Given the description of an element on the screen output the (x, y) to click on. 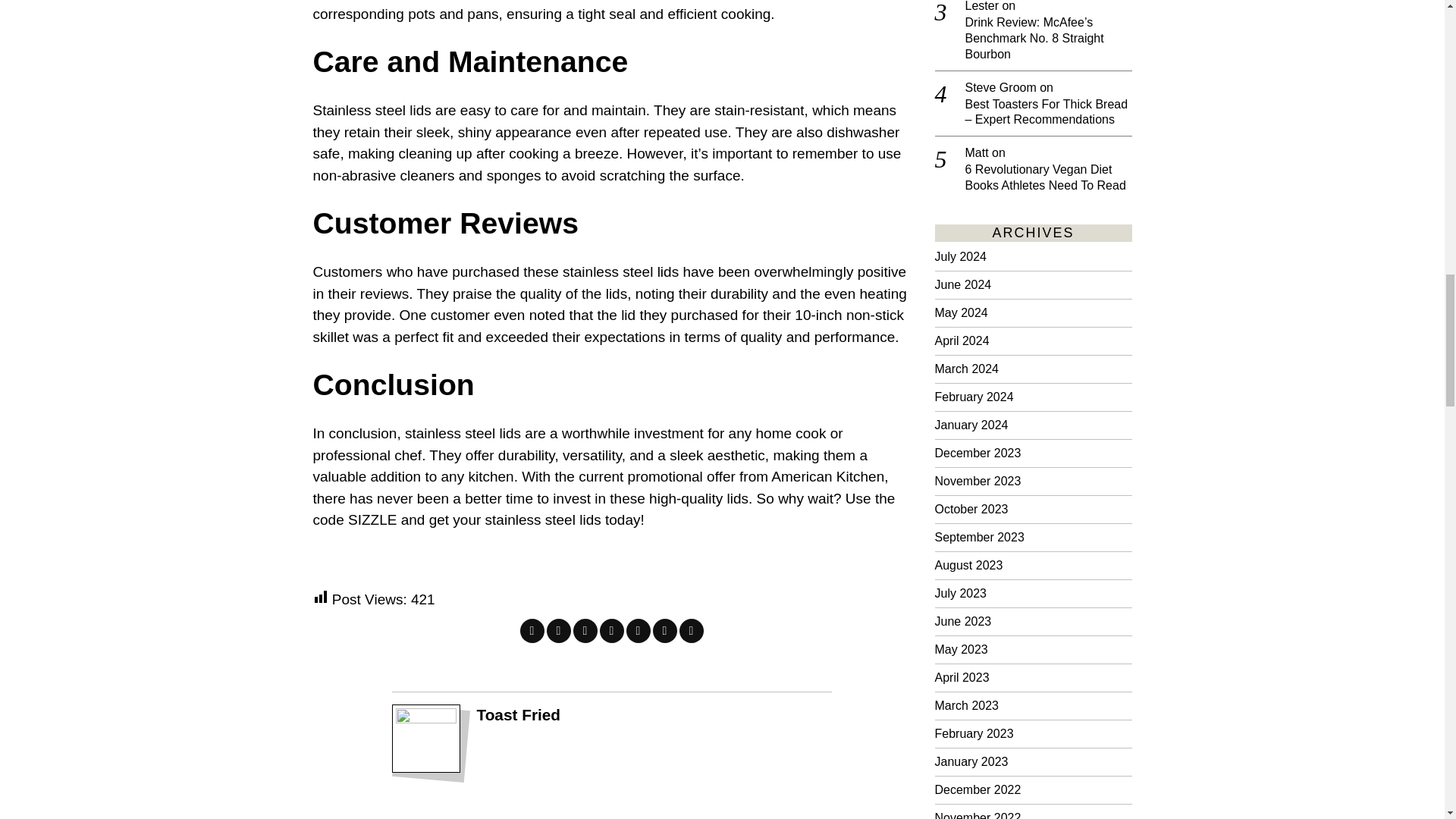
Toast Fried (518, 714)
